Given the description of an element on the screen output the (x, y) to click on. 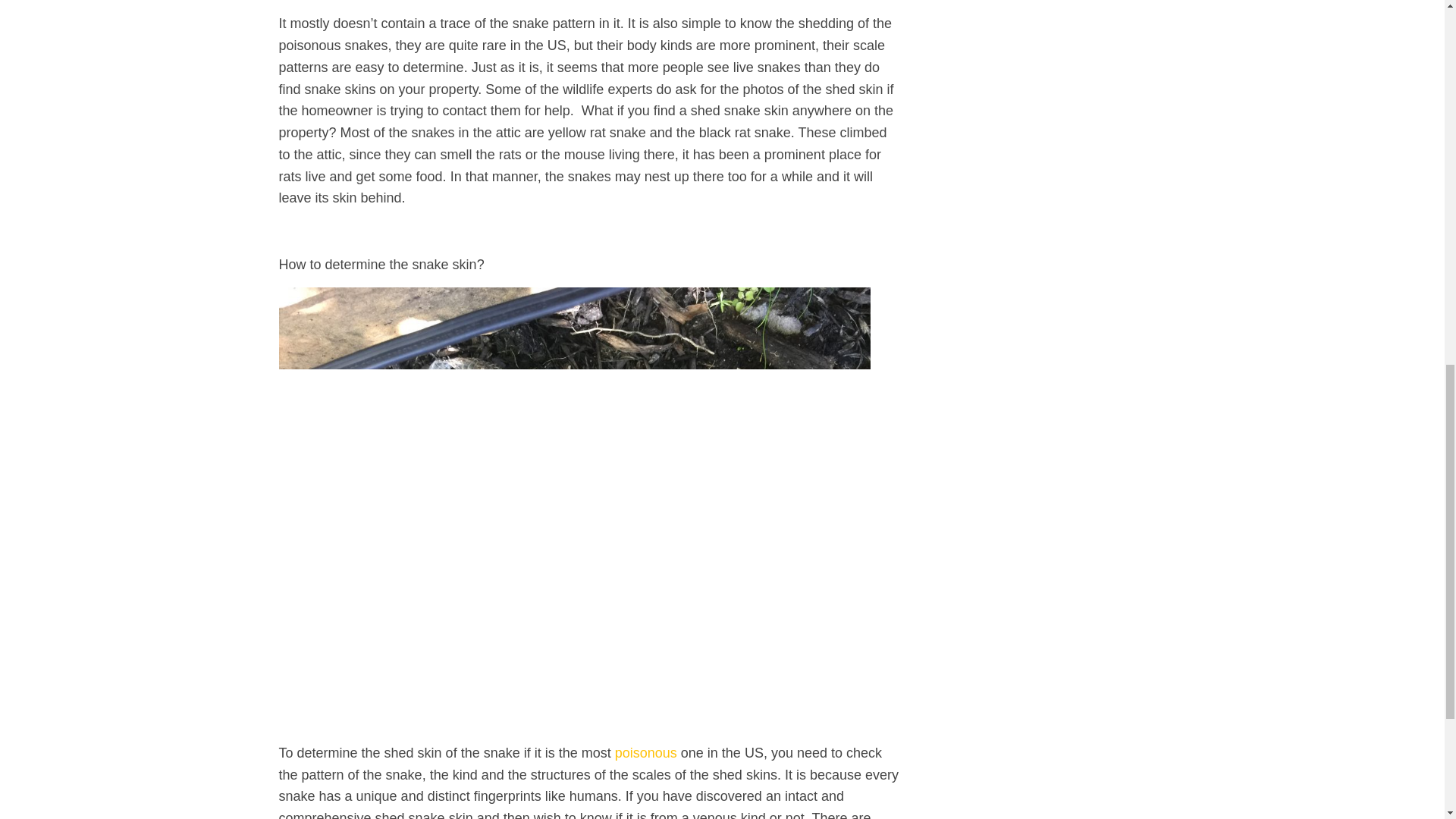
poisonous (645, 752)
